Given the description of an element on the screen output the (x, y) to click on. 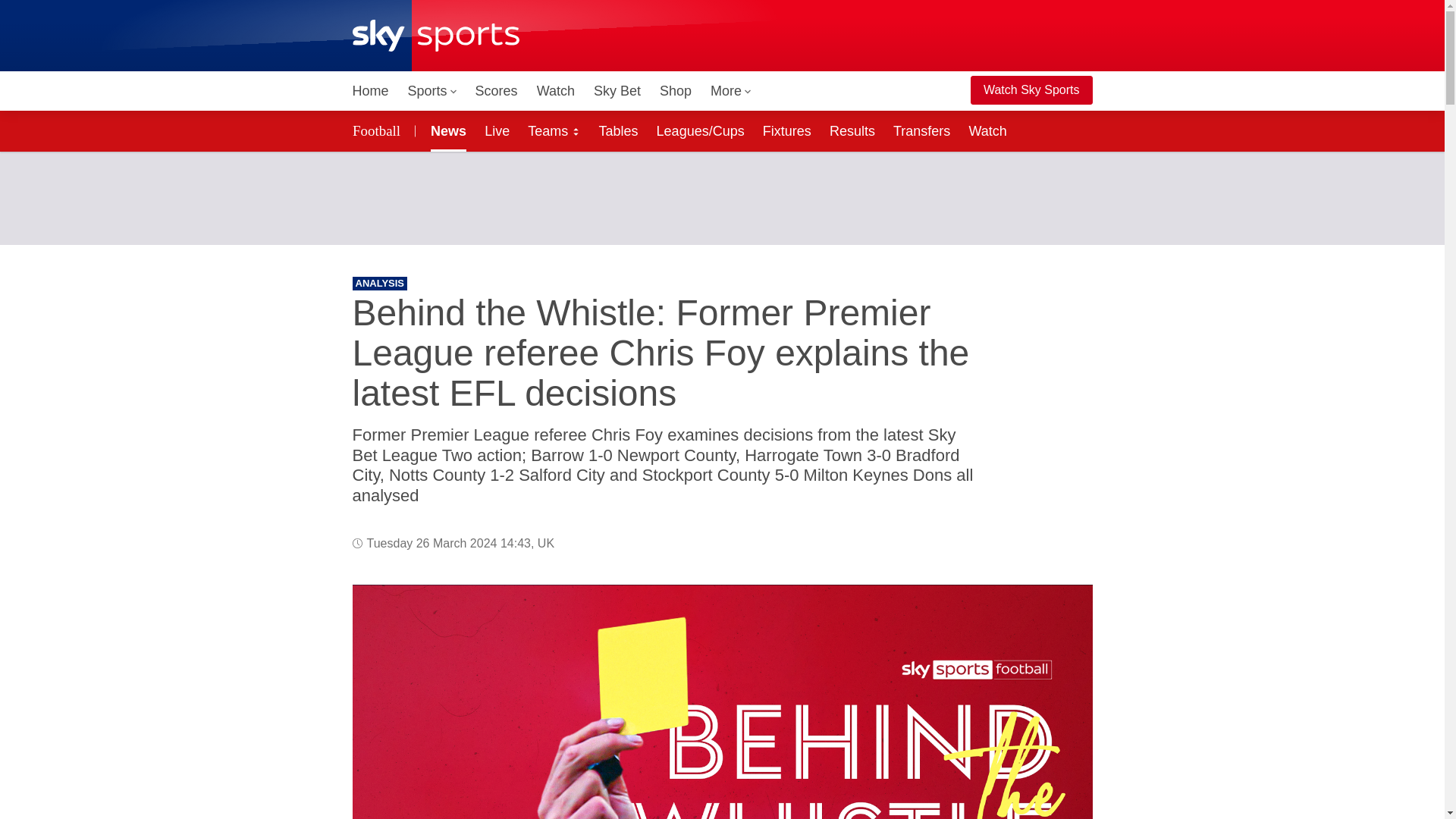
Home (369, 91)
Watch (555, 91)
Shop (675, 91)
Watch Sky Sports (1032, 90)
Football (378, 130)
More (730, 91)
Teams (553, 130)
Scores (496, 91)
Live (497, 130)
Sports (432, 91)
Sky Bet (616, 91)
News (445, 130)
